Given the description of an element on the screen output the (x, y) to click on. 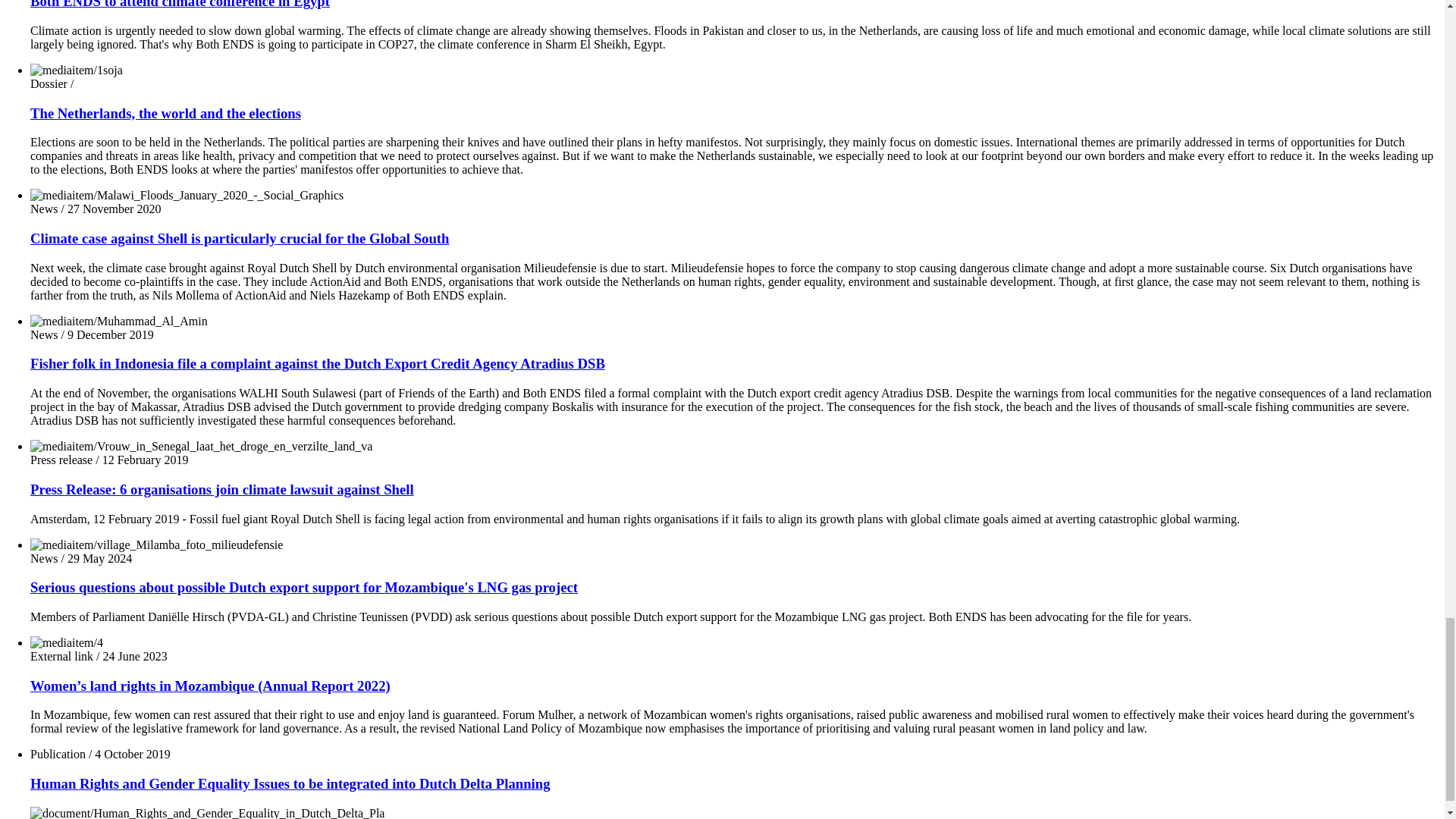
Both ENDS to attend climate conference in Egypt (180, 4)
The Netherlands, the world and the elections (165, 113)
